Given the description of an element on the screen output the (x, y) to click on. 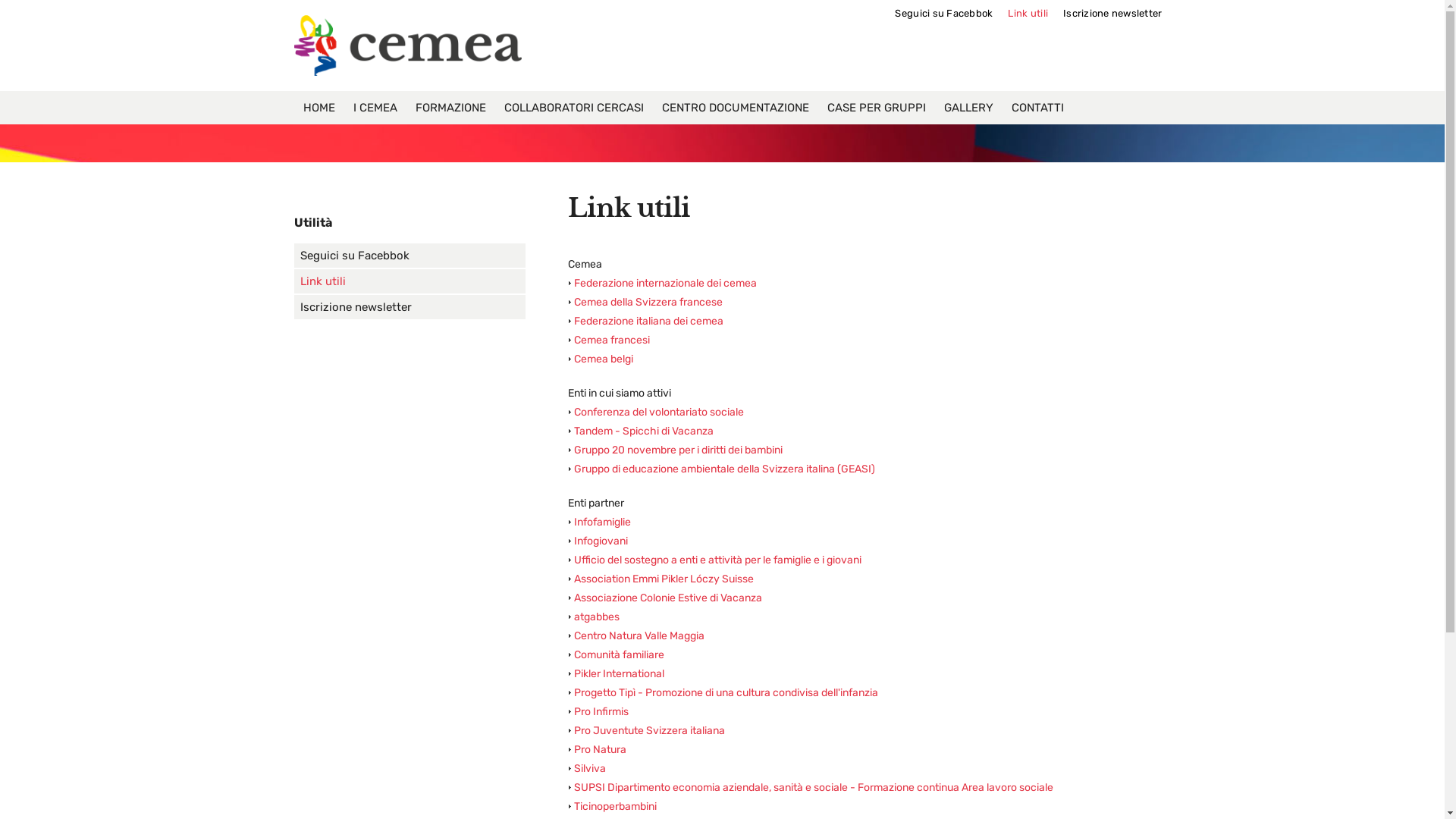
Pikler International Element type: text (619, 673)
Associazione Colonie Estive di Vacanza Element type: text (668, 597)
FORMAZIONE Element type: text (450, 107)
Iscrizione newsletter Element type: text (1104, 13)
Silviva Element type: text (589, 768)
I CEMEA Element type: text (375, 107)
Centro Natura Valle Maggia Element type: text (639, 635)
Iscrizione newsletter Element type: text (409, 306)
Infofamiglie Element type: text (602, 521)
HOME Element type: text (319, 107)
Link utili Element type: text (409, 281)
Pro Natura Element type: text (600, 749)
CENTRO DOCUMENTAZIONE Element type: text (734, 107)
Seguici su Facebbok Element type: text (935, 13)
CASE PER GRUPPI Element type: text (875, 107)
Seguici su Facebbok Element type: text (409, 255)
CONTATTI Element type: text (1037, 107)
Ticinoperbambini Element type: text (615, 806)
Gruppo 20 novembre per i diritti dei bambini Element type: text (678, 449)
atgabbes Element type: text (596, 616)
Federazione internazionale dei cemea Element type: text (665, 282)
Federazione italiana dei cemea Element type: text (648, 320)
Cemea francesi Element type: text (611, 339)
Infogiovani Element type: text (600, 540)
Pro Juventute Svizzera italiana Element type: text (649, 730)
COLLABORATORI CERCASI Element type: text (573, 107)
Cemea belgi Element type: text (603, 358)
Tandem - Spicchi di Vacanza Element type: text (643, 430)
Conferenza del volontariato sociale Element type: text (658, 411)
Pro Infirmis Element type: text (601, 711)
GALLERY Element type: text (967, 107)
Link utili Element type: text (1020, 13)
Cemea della Svizzera francese Element type: text (648, 301)
